Given the description of an element on the screen output the (x, y) to click on. 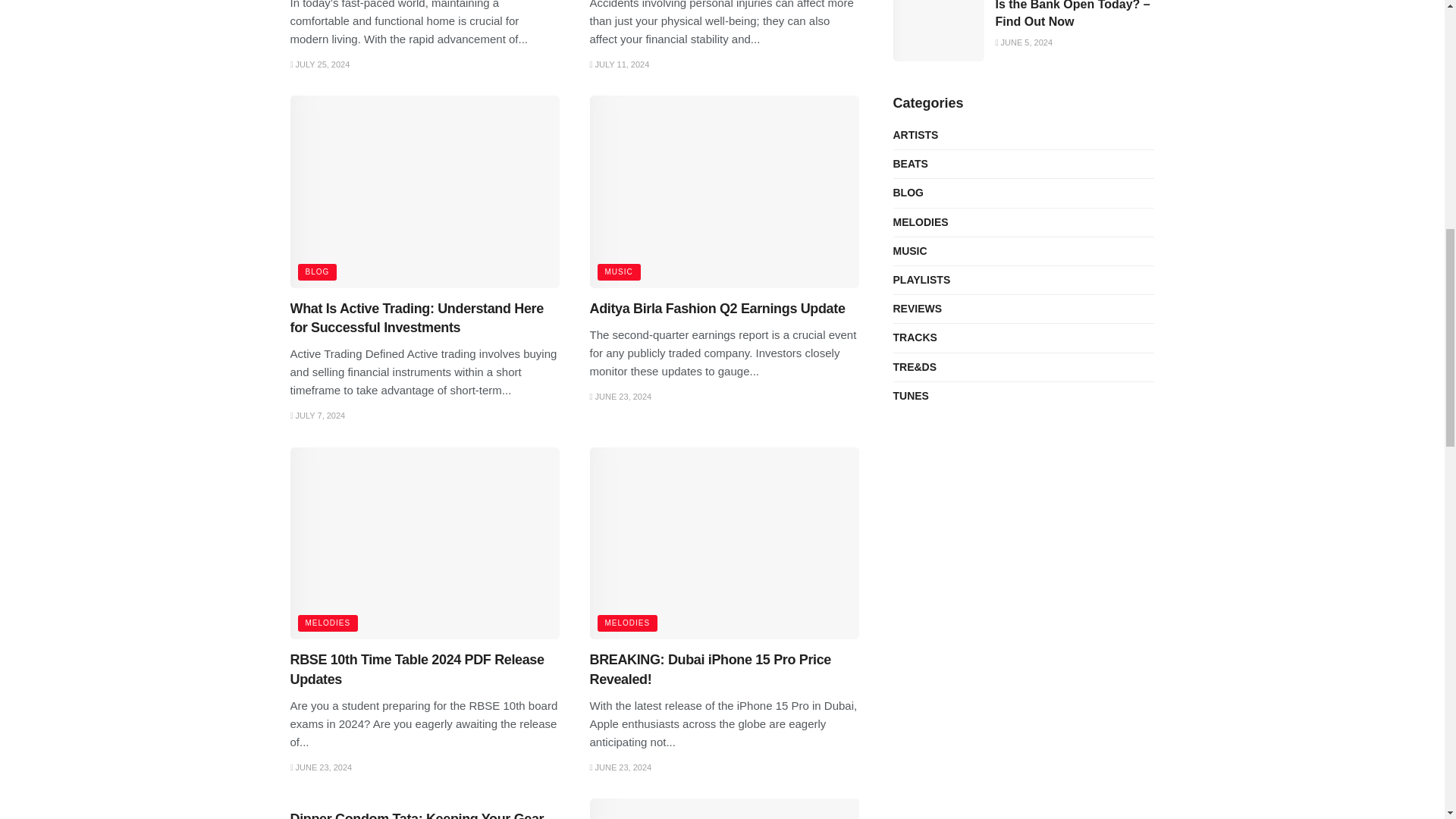
BLOG (316, 271)
JULY 25, 2024 (319, 63)
JULY 11, 2024 (619, 63)
